Given the description of an element on the screen output the (x, y) to click on. 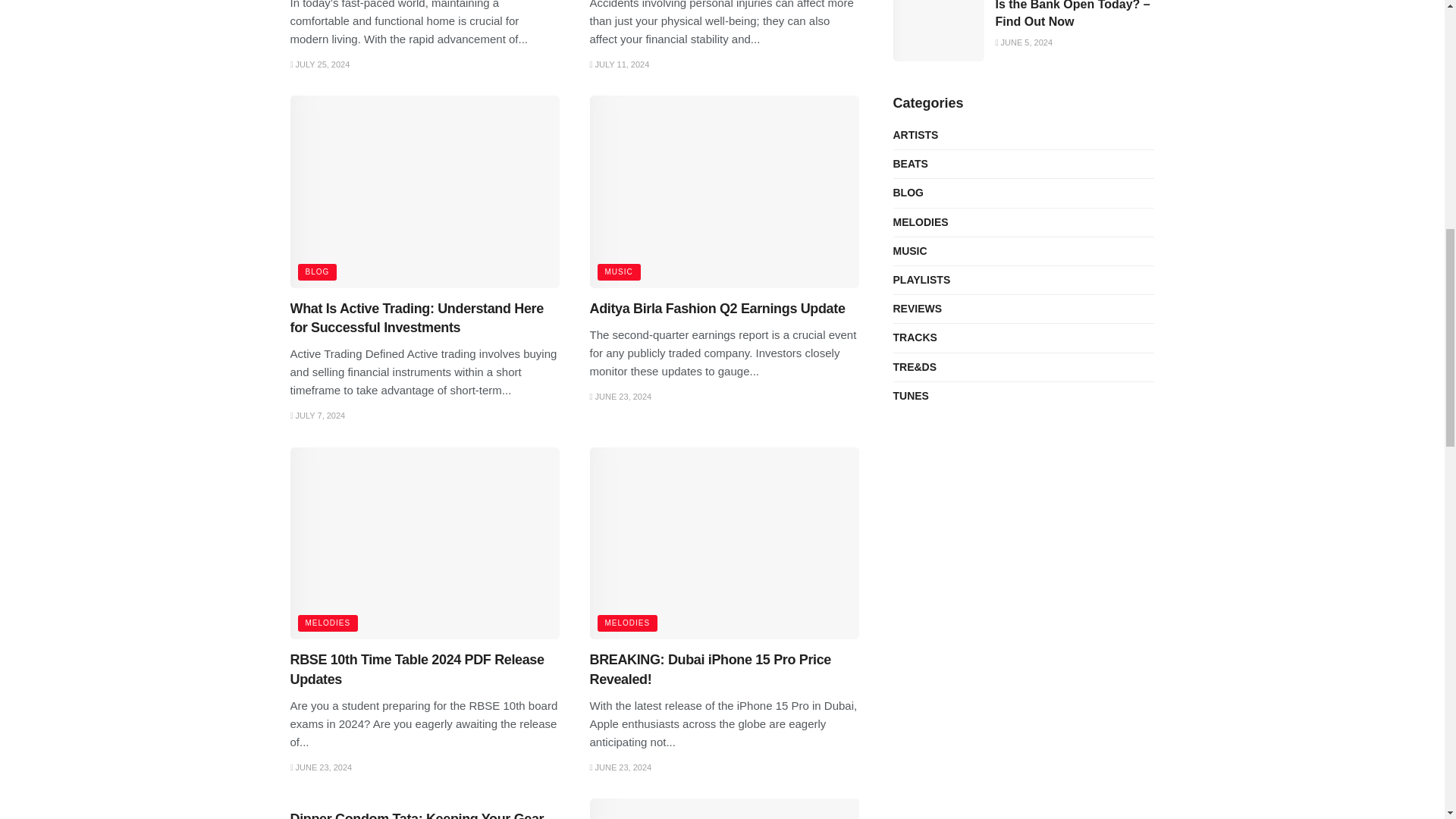
BLOG (316, 271)
JULY 25, 2024 (319, 63)
JULY 11, 2024 (619, 63)
